Given the description of an element on the screen output the (x, y) to click on. 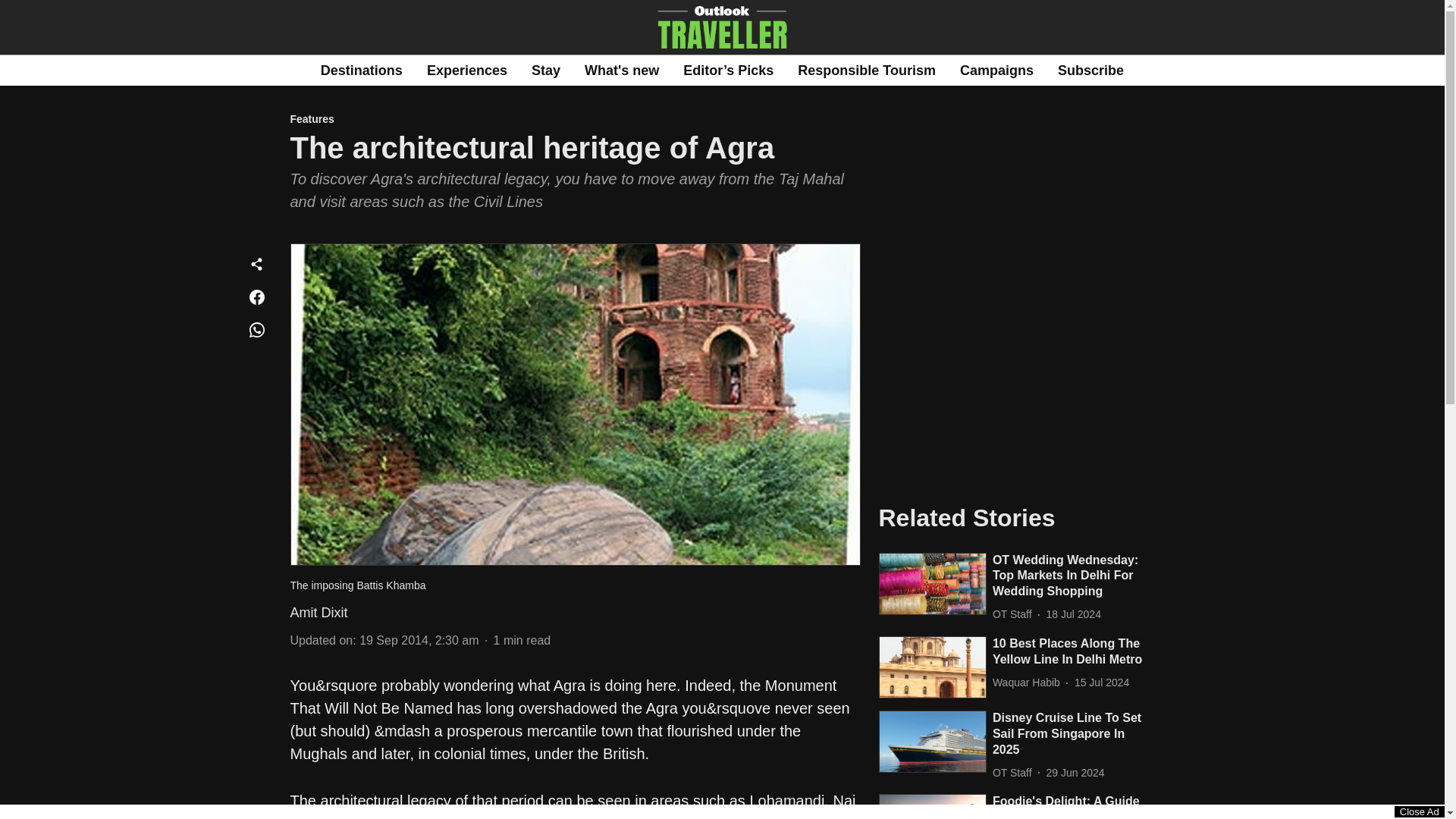
Stay (545, 70)
Destinations (361, 70)
2024-07-18 10:52 (1073, 614)
Subscribe (1091, 70)
Experiences (466, 70)
2024-06-29 10:35 (1075, 772)
Responsible Tourism (866, 70)
Features (574, 119)
3rd party ad content (1015, 368)
2024-07-15 12:18 (1101, 682)
What's new (622, 70)
Amit Dixit (318, 612)
